Given the description of an element on the screen output the (x, y) to click on. 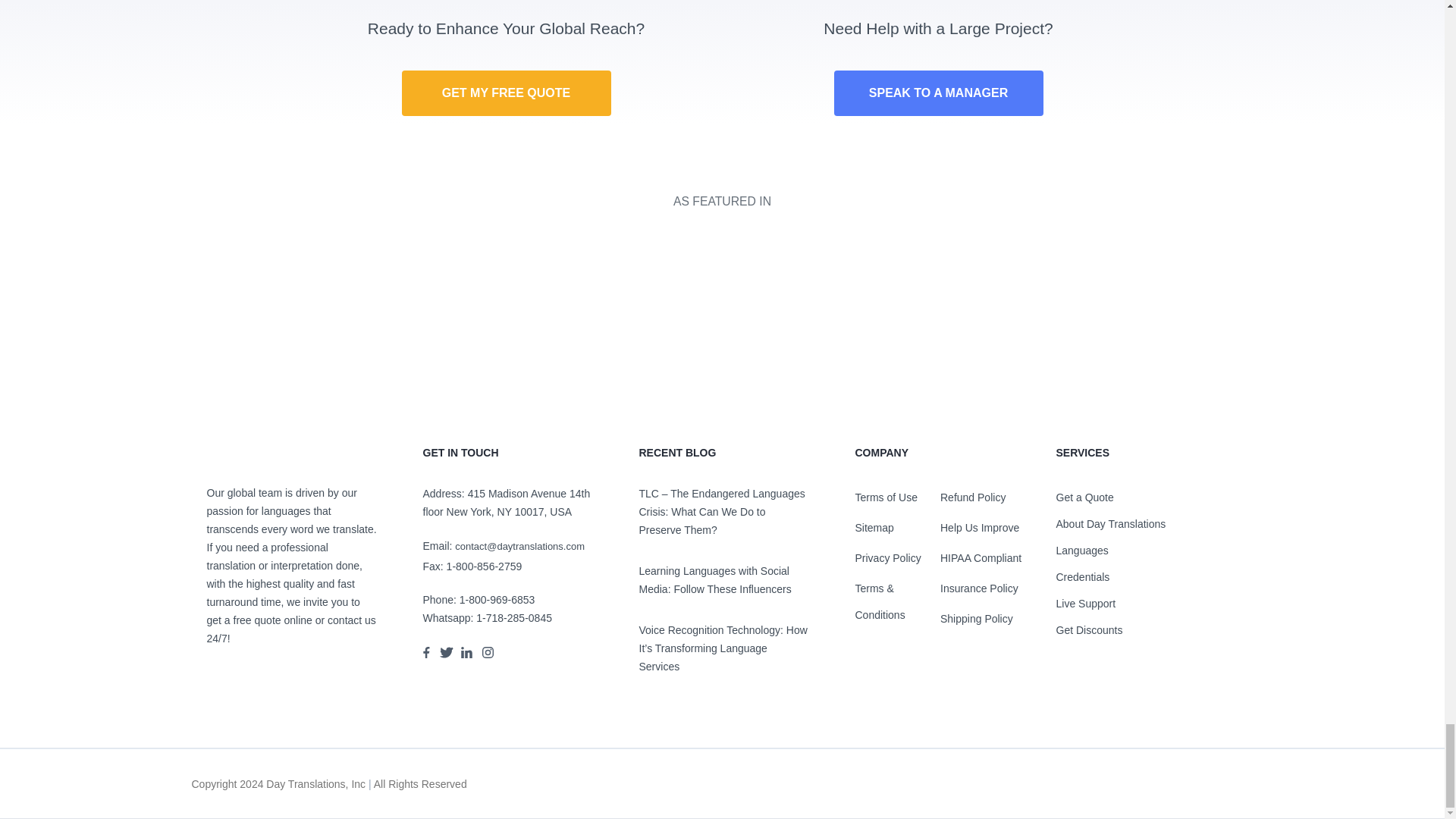
DMCA.com Protection Status (1187, 788)
